Given the description of an element on the screen output the (x, y) to click on. 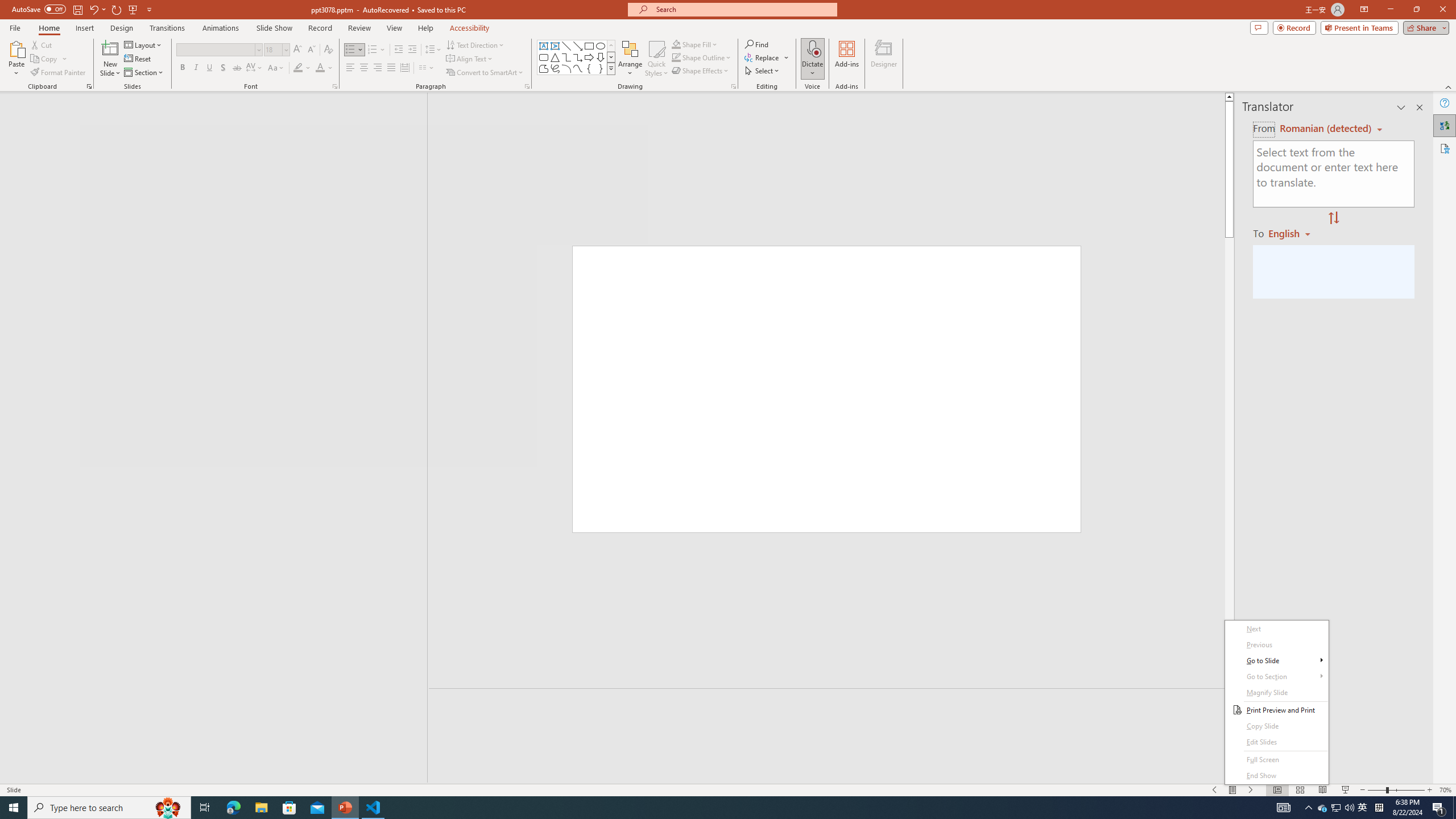
Running applications (700, 807)
